Given the description of an element on the screen output the (x, y) to click on. 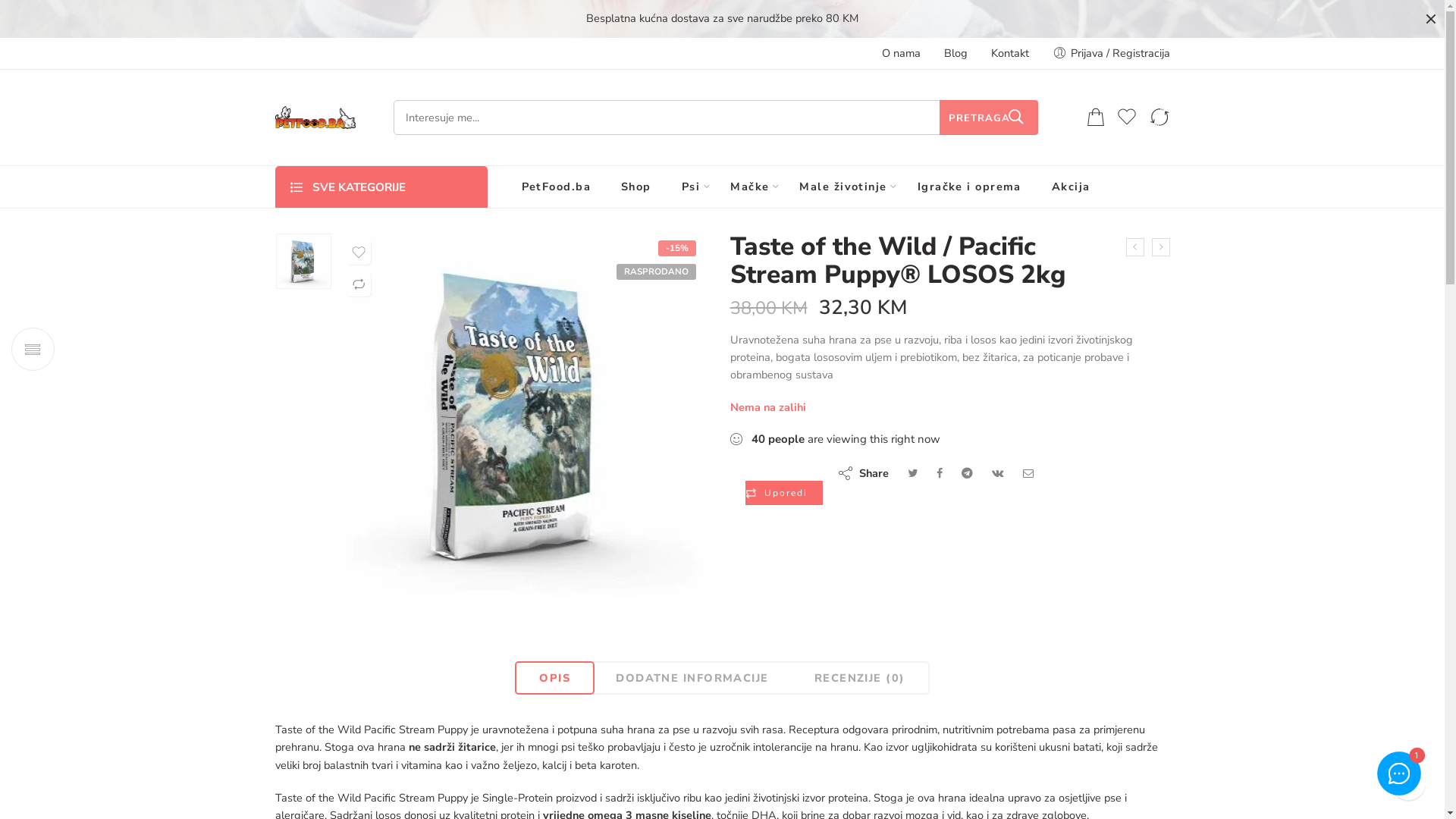
Taste of the Wild High Prairie Canine 12,2kg Element type: hover (1160, 247)
PetFood.ba Element type: text (556, 186)
Taste of the Wild Sierra Mountain (janjetina) 2kg Element type: hover (1134, 247)
Recently Viewed Element type: hover (1408, 782)
Shop Element type: text (636, 186)
Email to your friends Element type: hover (1027, 472)
OPIS Element type: text (554, 677)
DODATNE INFORMACIJE Element type: text (692, 677)
PRETRAGA Element type: text (987, 117)
Uporedi Element type: text (783, 492)
Share on Telegram Element type: hover (966, 472)
Blog Element type: text (954, 52)
taste-of-the-wild-pacific-stream-puppy-l-074198612451_1 Element type: hover (520, 414)
taste-of-the-wild-pacific-stream-puppy-l-074198612451_1 Element type: hover (303, 260)
Share on VK Element type: hover (997, 472)
Uporedi proizvod Element type: hover (358, 284)
O nama Element type: text (900, 52)
Kontakt Element type: text (1009, 52)
Close Element type: hover (1430, 18)
RECENZIJE (0) Element type: text (859, 677)
Akcija Element type: text (1070, 186)
Psi Element type: text (690, 186)
Share on Twitter Element type: hover (911, 472)
Prijava / Registracija Element type: text (1111, 53)
Share on Facebook Element type: hover (938, 472)
Uporedi proizvod Element type: hover (1158, 117)
